Given the description of an element on the screen output the (x, y) to click on. 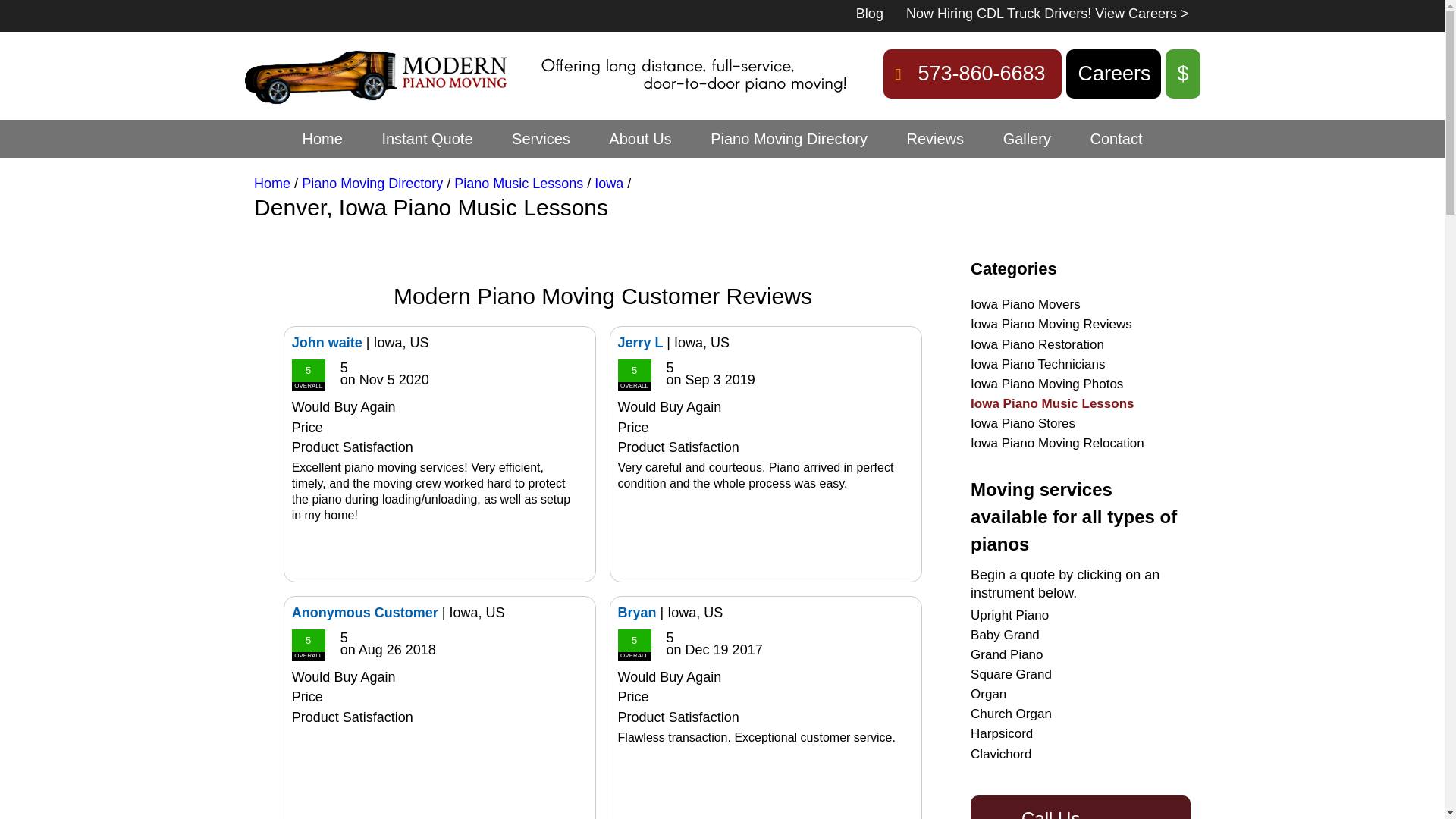
Instant Quote (426, 138)
573-860-6683 (972, 73)
Home (322, 138)
About Us (639, 138)
Blog (869, 13)
Services (541, 138)
Careers (1112, 73)
